Given the description of an element on the screen output the (x, y) to click on. 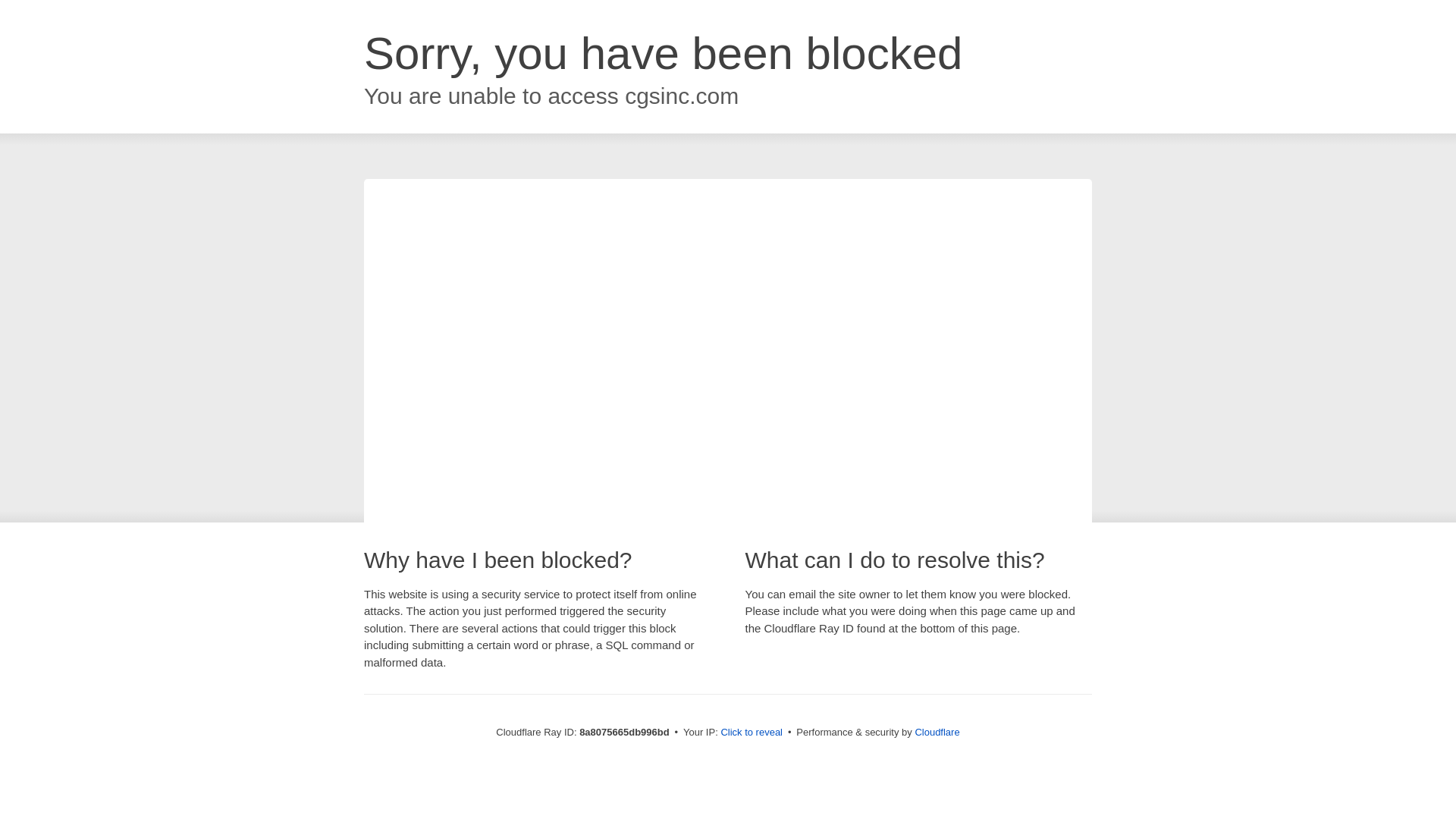
Click to reveal (751, 732)
Cloudflare (936, 731)
